Given the description of an element on the screen output the (x, y) to click on. 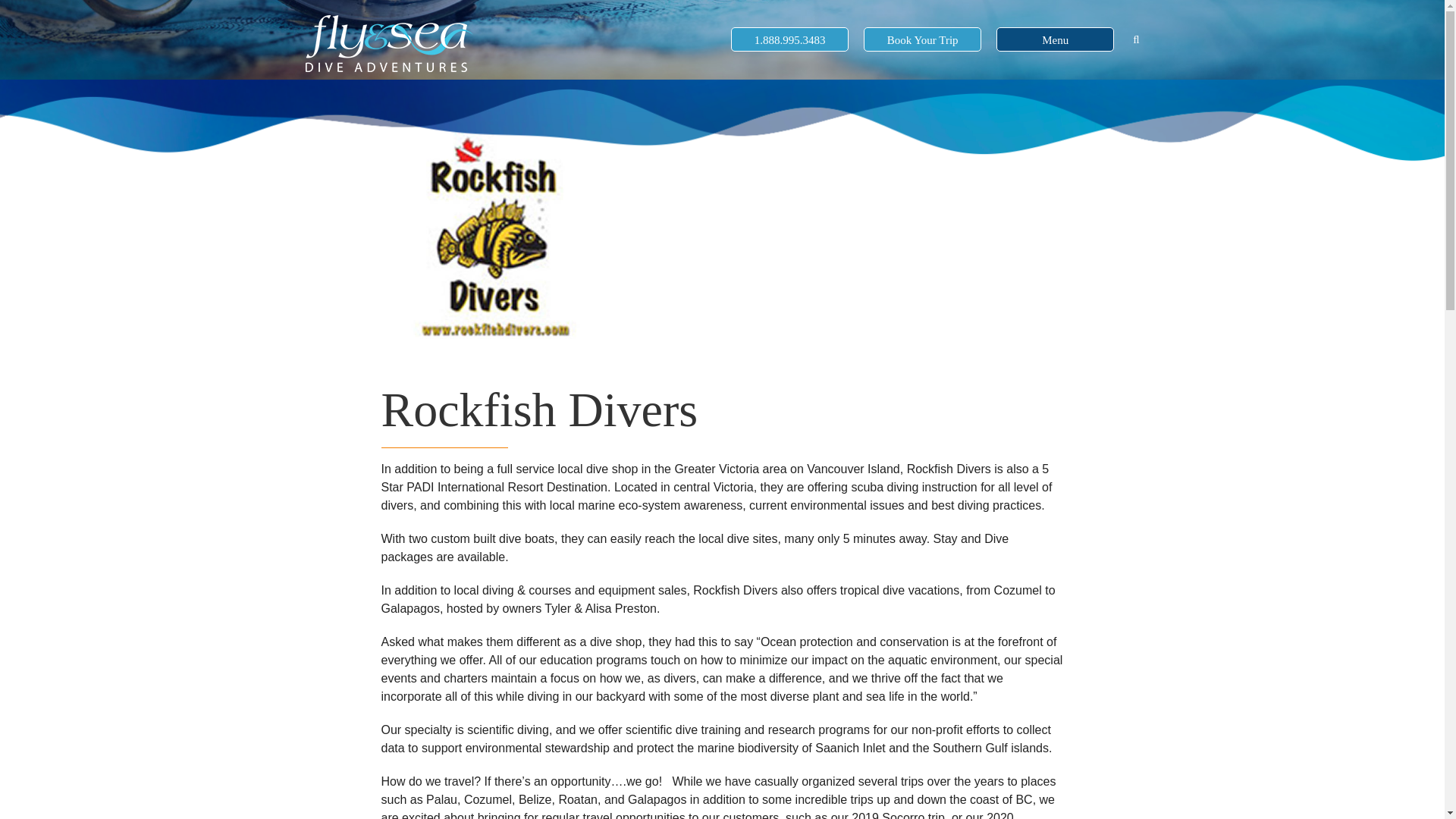
Menu (1055, 40)
1.888.995.3483 (789, 40)
Book Your Trip (921, 40)
